Given the description of an element on the screen output the (x, y) to click on. 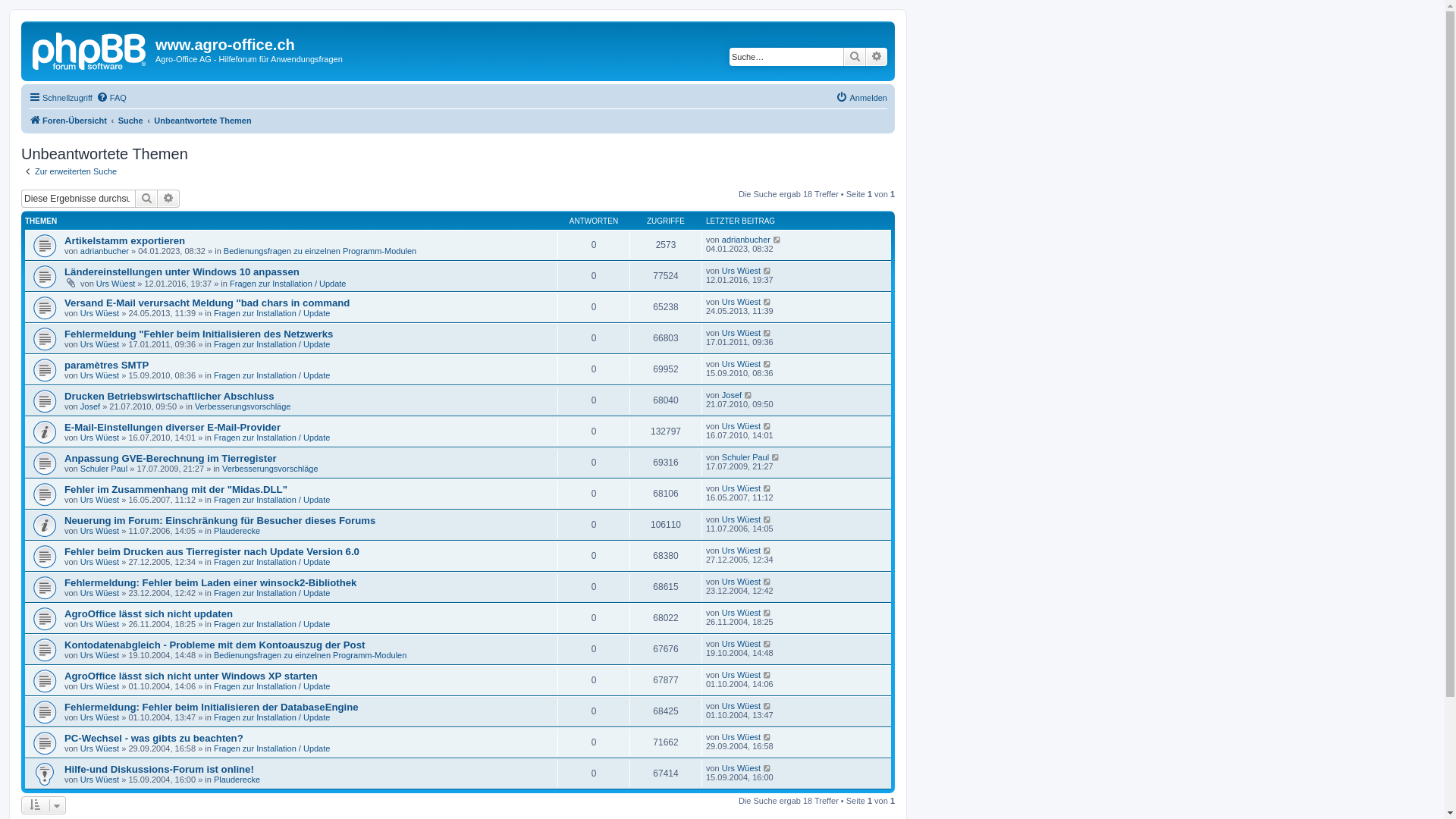
Gehe zum letzten Beitrag Element type: hover (767, 270)
Plauderecke Element type: text (236, 779)
Fragen zur Installation / Update Element type: text (271, 374)
Gehe zum letzten Beitrag Element type: hover (767, 363)
Gehe zum letzten Beitrag Element type: hover (767, 332)
Fehler beim Drucken aus Tierregister nach Update Version 6.0 Element type: text (211, 551)
Gehe zum letzten Beitrag Element type: hover (777, 239)
Fehlermeldung "Fehler beim Initialisieren des Netzwerks Element type: text (198, 333)
Gehe zum letzten Beitrag Element type: hover (767, 519)
Zur erweiterten Suche Element type: text (68, 171)
Fehlermeldung: Fehler beim Initialisieren der DatabaseEngine Element type: text (211, 706)
Gehe zum letzten Beitrag Element type: hover (767, 674)
Kontodatenabgleich - Probleme mit dem Kontoauszug der Post Element type: text (214, 644)
Hilfe-und Diskussions-Forum ist online! Element type: text (159, 769)
Schnellzugriff Element type: text (60, 97)
Gehe zum letzten Beitrag Element type: hover (767, 767)
Bedienungsfragen zu einzelnen Programm-Modulen Element type: text (309, 654)
Schuler Paul Element type: text (103, 468)
Suche Element type: text (145, 198)
Gehe zum letzten Beitrag Element type: hover (767, 301)
Bedienungsfragen zu einzelnen Programm-Modulen Element type: text (319, 250)
Anpassung GVE-Berechnung im Tierregister Element type: text (170, 458)
Fragen zur Installation / Update Element type: text (271, 623)
Fehler im Zusammenhang mit der "Midas.DLL" Element type: text (175, 489)
Anmelden Element type: text (861, 97)
Fragen zur Installation / Update Element type: text (287, 283)
Gehe zum letzten Beitrag Element type: hover (767, 550)
Gehe zum letzten Beitrag Element type: hover (767, 736)
Gehe zum letzten Beitrag Element type: hover (776, 456)
Fragen zur Installation / Update Element type: text (271, 343)
Gehe zum letzten Beitrag Element type: hover (767, 705)
Fragen zur Installation / Update Element type: text (271, 561)
Fragen zur Installation / Update Element type: text (271, 716)
Suche Element type: text (854, 56)
Josef Element type: text (90, 406)
Versand E-Mail verursacht Meldung "bad chars in command Element type: text (206, 302)
Josef Element type: text (731, 394)
Erweiterte Suche Element type: text (168, 198)
Gehe zum letzten Beitrag Element type: hover (748, 394)
Fragen zur Installation / Update Element type: text (271, 592)
adrianbucher Element type: text (104, 250)
PC-Wechsel - was gibts zu beachten? Element type: text (153, 737)
Suche Element type: text (130, 120)
Anzeige- und Sortierungs-Einstellungen Element type: hover (43, 805)
Gehe zum letzten Beitrag Element type: hover (767, 643)
Gehe zum letzten Beitrag Element type: hover (767, 425)
Artikelstamm exportieren Element type: text (124, 240)
Fehlermeldung: Fehler beim Laden einer winsock2-Bibliothek Element type: text (210, 582)
Fragen zur Installation / Update Element type: text (271, 437)
E-Mail-Einstellungen diverser E-Mail-Provider Element type: text (172, 427)
adrianbucher Element type: text (745, 239)
Fragen zur Installation / Update Element type: text (271, 312)
Erweiterte Suche Element type: text (876, 56)
Gehe zum letzten Beitrag Element type: hover (767, 581)
FAQ Element type: text (111, 97)
Fragen zur Installation / Update Element type: text (271, 685)
Gehe zum letzten Beitrag Element type: hover (767, 612)
Fragen zur Installation / Update Element type: text (271, 748)
Fragen zur Installation / Update Element type: text (271, 499)
Schuler Paul Element type: text (744, 456)
Unbeantwortete Themen Element type: text (202, 120)
Plauderecke Element type: text (236, 530)
Drucken Betriebswirtschaftlicher Abschluss Element type: text (169, 395)
Gehe zum letzten Beitrag Element type: hover (767, 487)
